Given the description of an element on the screen output the (x, y) to click on. 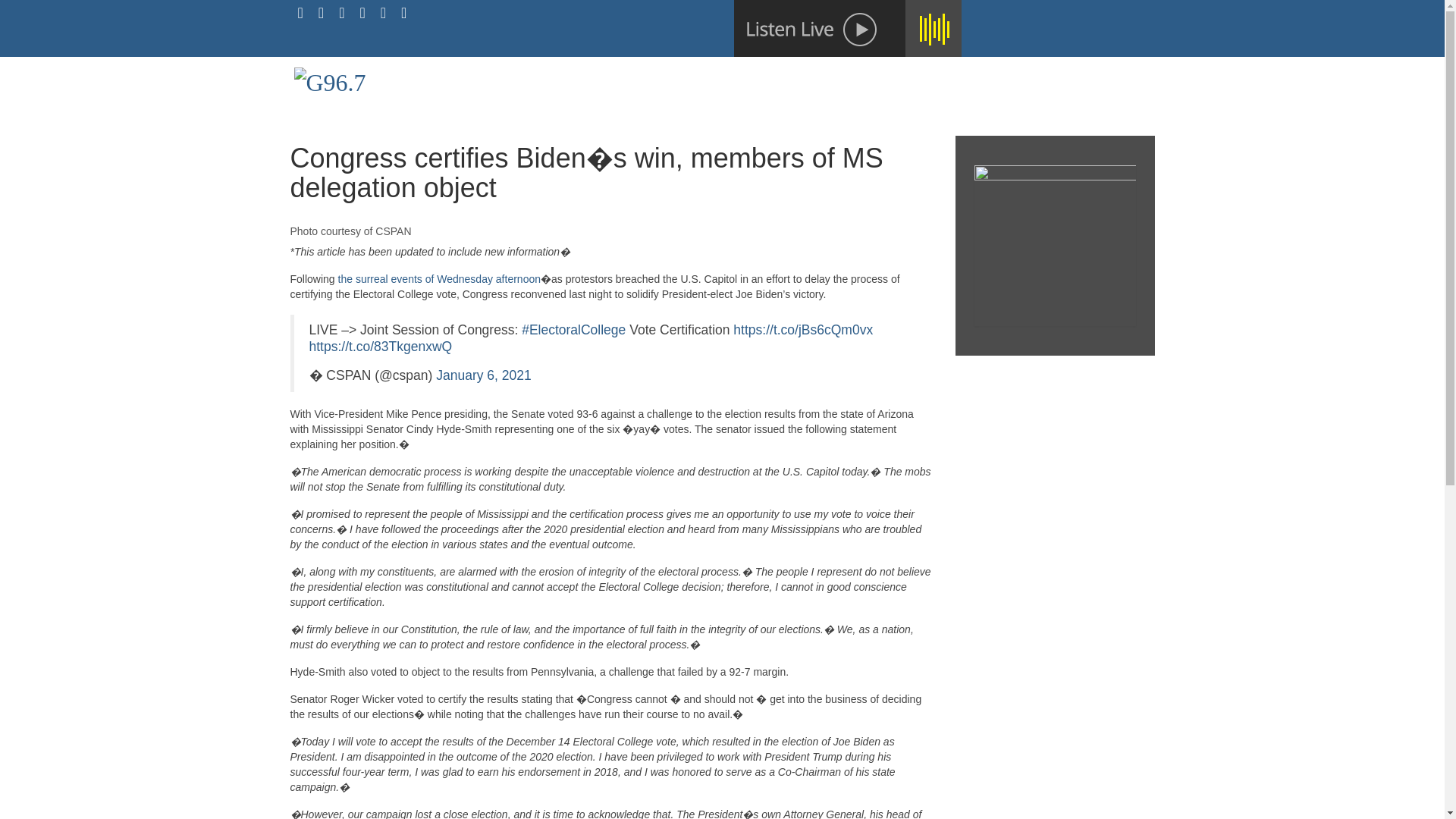
the surreal events of Wednesday afternoon (438, 278)
HOME (827, 78)
HALF OFF DEALS (1089, 78)
January 6, 2021 (483, 375)
CONTESTS (979, 78)
ON-AIR (896, 78)
White flower (846, 28)
